Given the description of an element on the screen output the (x, y) to click on. 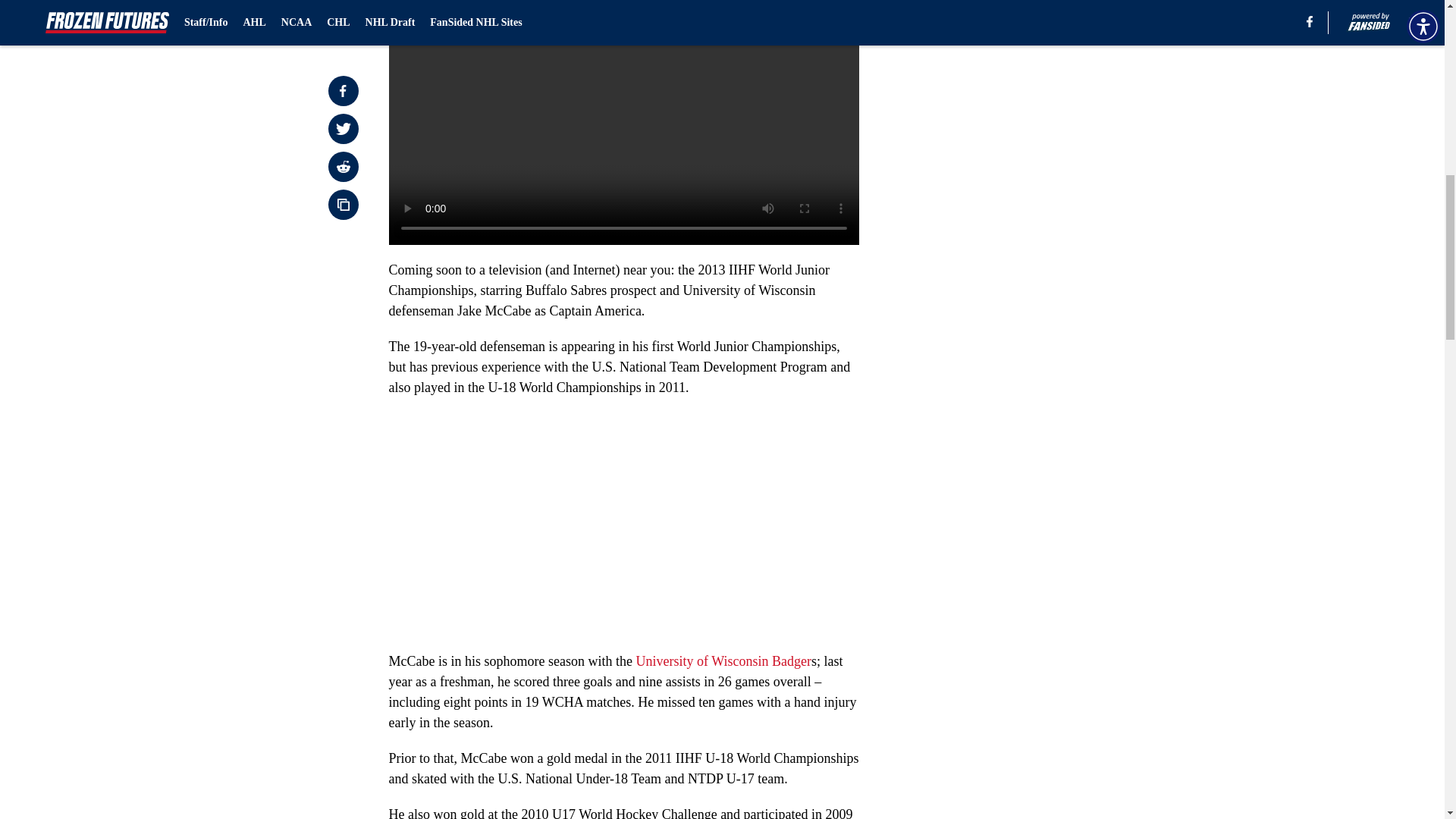
3rd party ad content (1047, 294)
3rd party ad content (1047, 84)
University of Wisconsin Badger (722, 661)
